Given the description of an element on the screen output the (x, y) to click on. 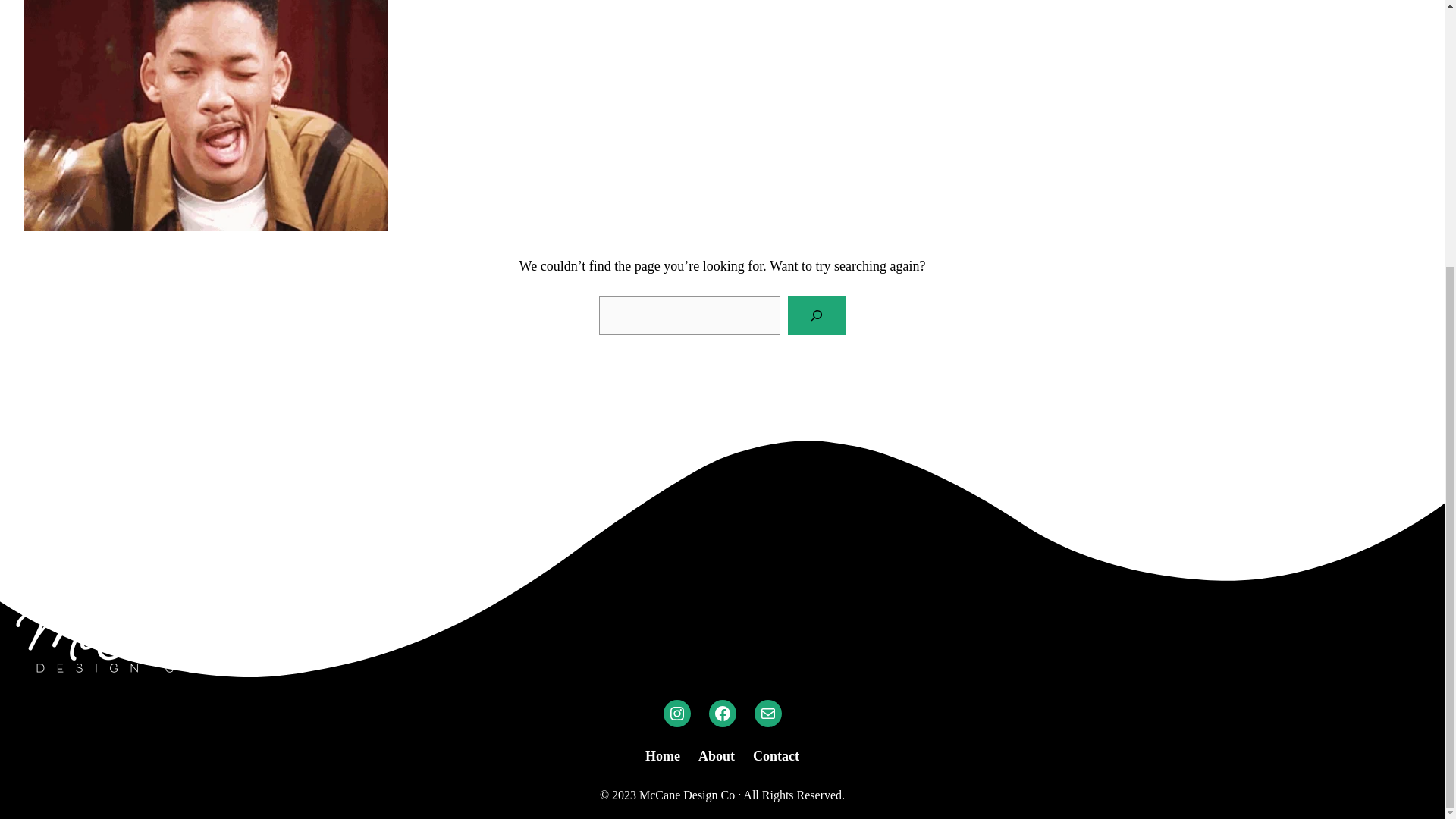
Email (767, 713)
Home (662, 756)
Instagram (676, 713)
Contact (775, 756)
About (716, 756)
Facebook (721, 713)
